Given the description of an element on the screen output the (x, y) to click on. 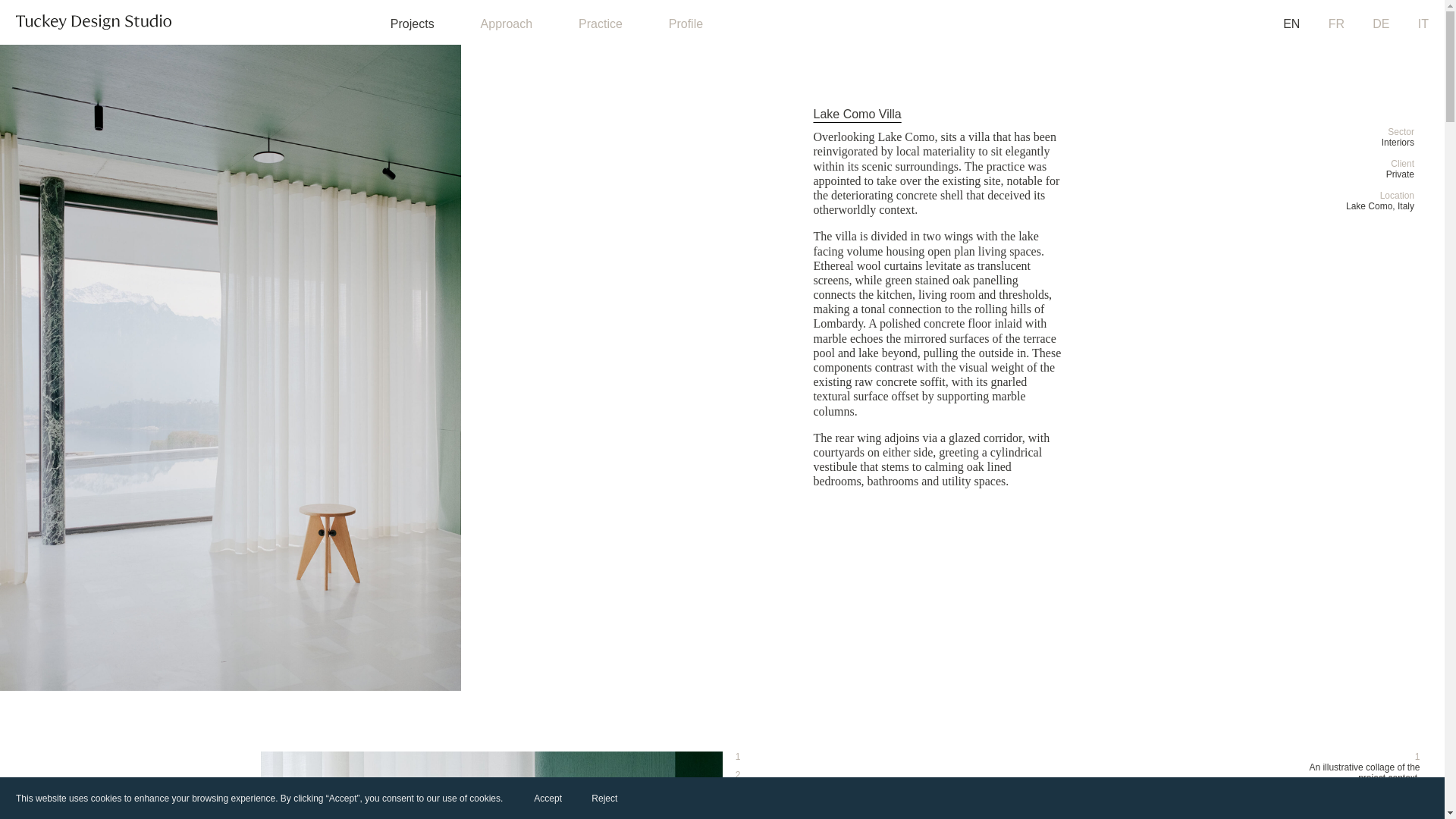
Reject (604, 798)
Accept (548, 798)
Projects (411, 23)
Profile (685, 23)
Practice (600, 23)
EN (1291, 23)
FR (1335, 23)
Approach (506, 23)
DE (1381, 23)
